Given the description of an element on the screen output the (x, y) to click on. 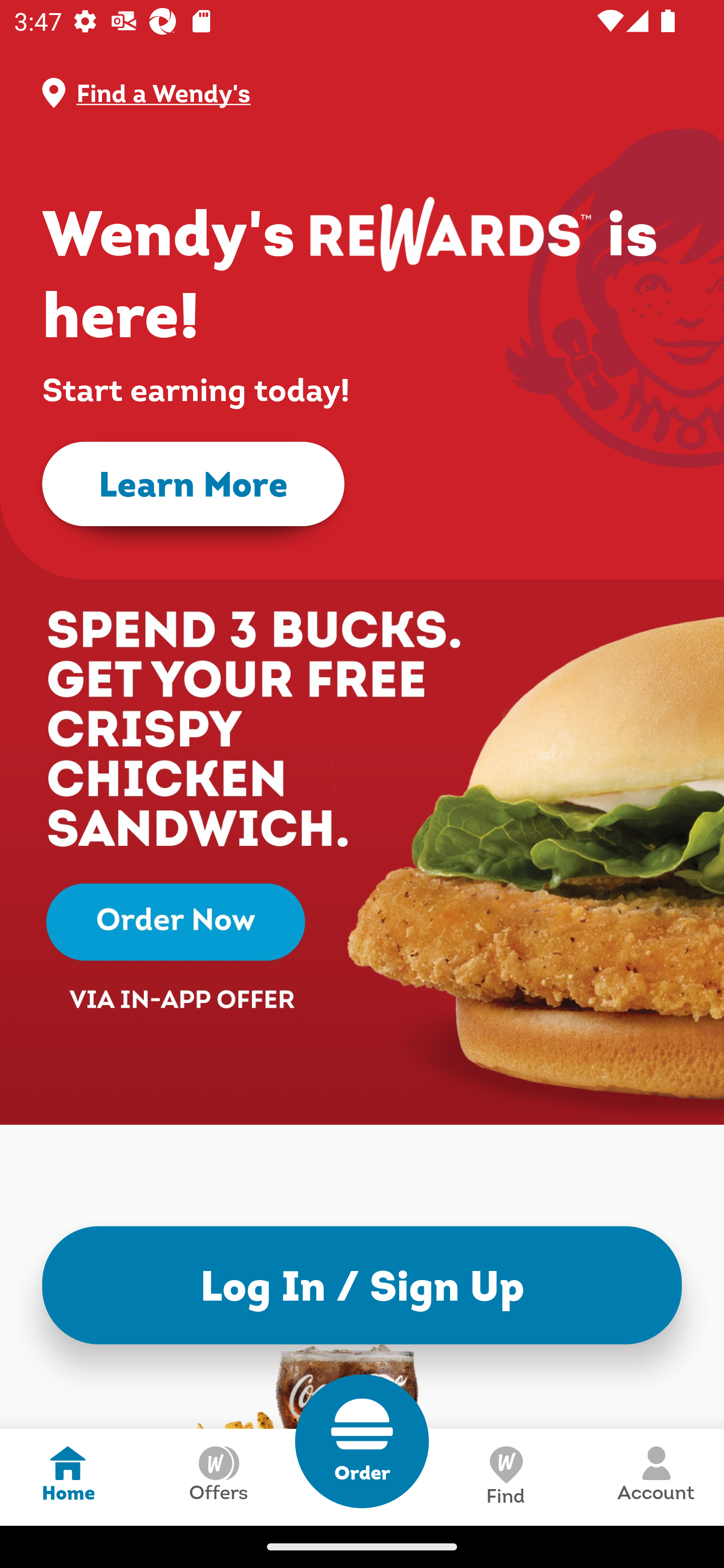
Find a Wendy's (378, 92)
Learn More (192, 484)
Campaign image (362, 807)
Log In / Sign Up (361, 1284)
Order,3 of 5 Order (361, 1441)
Home,1 of 5 Home (68, 1476)
Rewards,2 of 5 Offers Offers (218, 1476)
Scan,4 of 5 Find Find (505, 1476)
Account,5 of 5 Account (655, 1476)
